Given the description of an element on the screen output the (x, y) to click on. 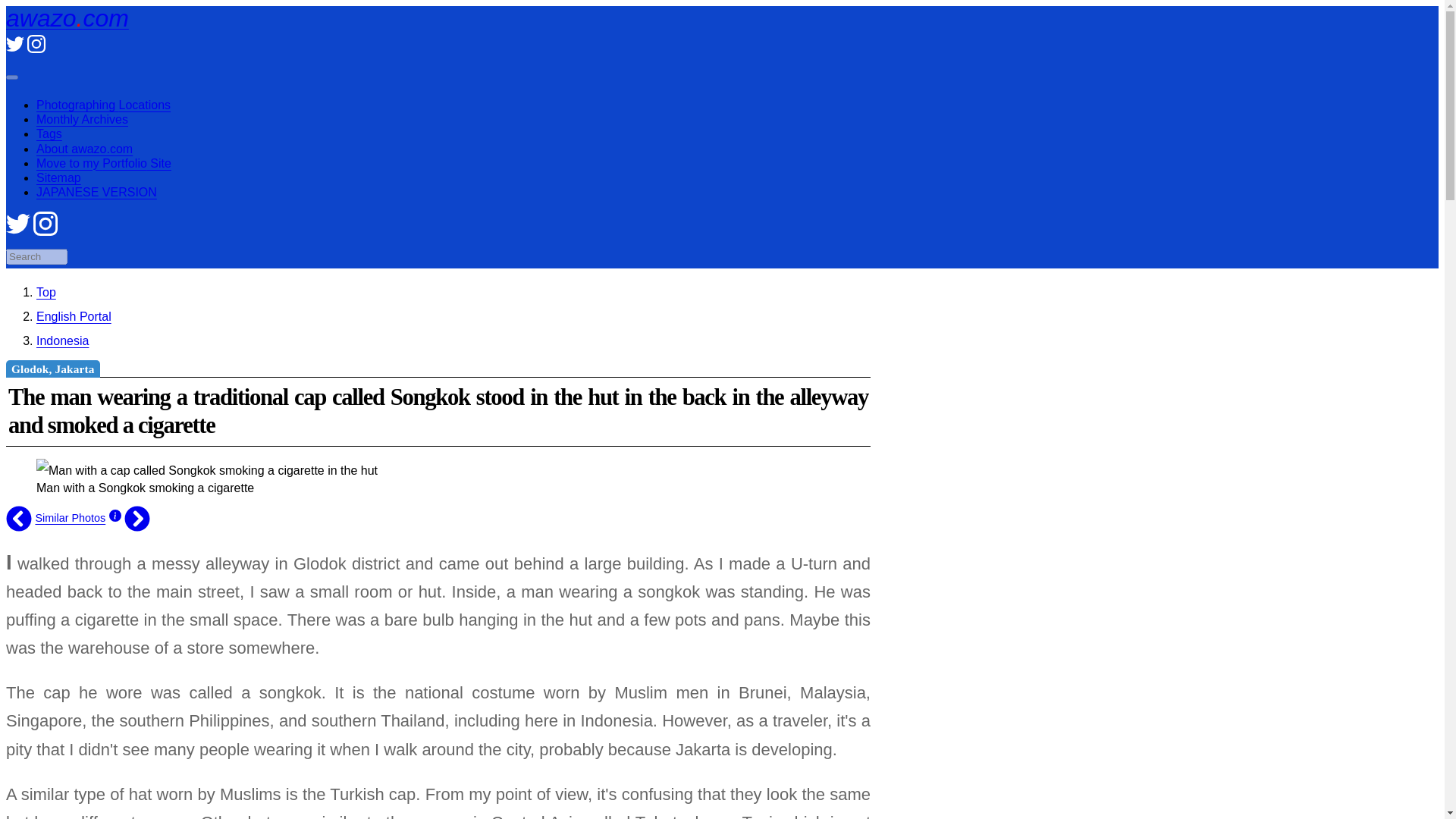
Photographing Locations (103, 104)
awazo.com (46, 291)
Photo Information (114, 517)
Move to my Portfolio Site (103, 163)
Twitter (14, 48)
Instagram (36, 48)
English Portal (74, 316)
Sitemap (58, 177)
JAPANESE VERSION (96, 192)
awazo.com (67, 17)
